Given the description of an element on the screen output the (x, y) to click on. 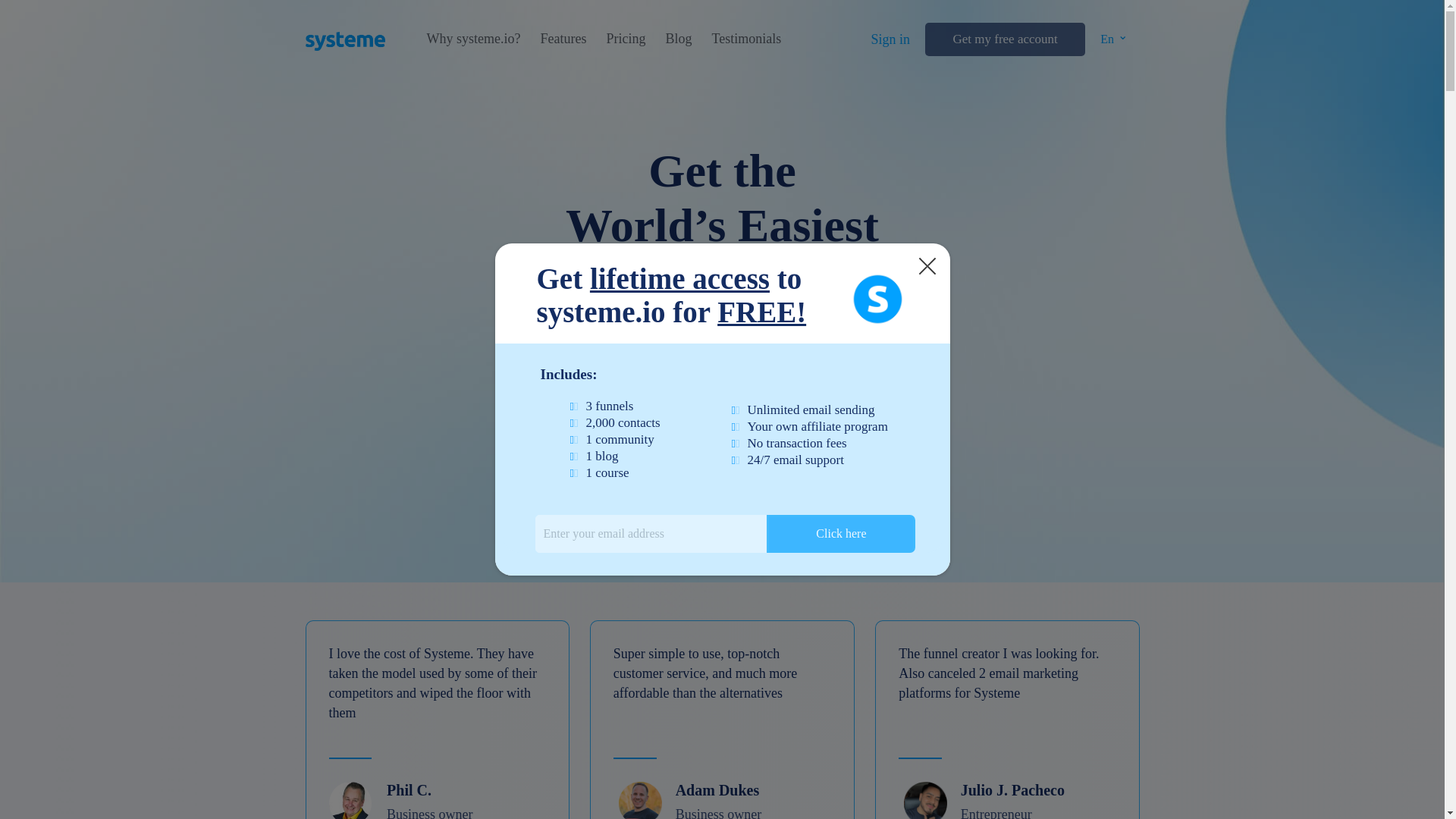
Features (563, 38)
Why systeme.io? (472, 38)
Blog (678, 38)
Pricing (625, 38)
Sign in (890, 39)
Testimonials (745, 38)
Get my free account (1004, 39)
